Given the description of an element on the screen output the (x, y) to click on. 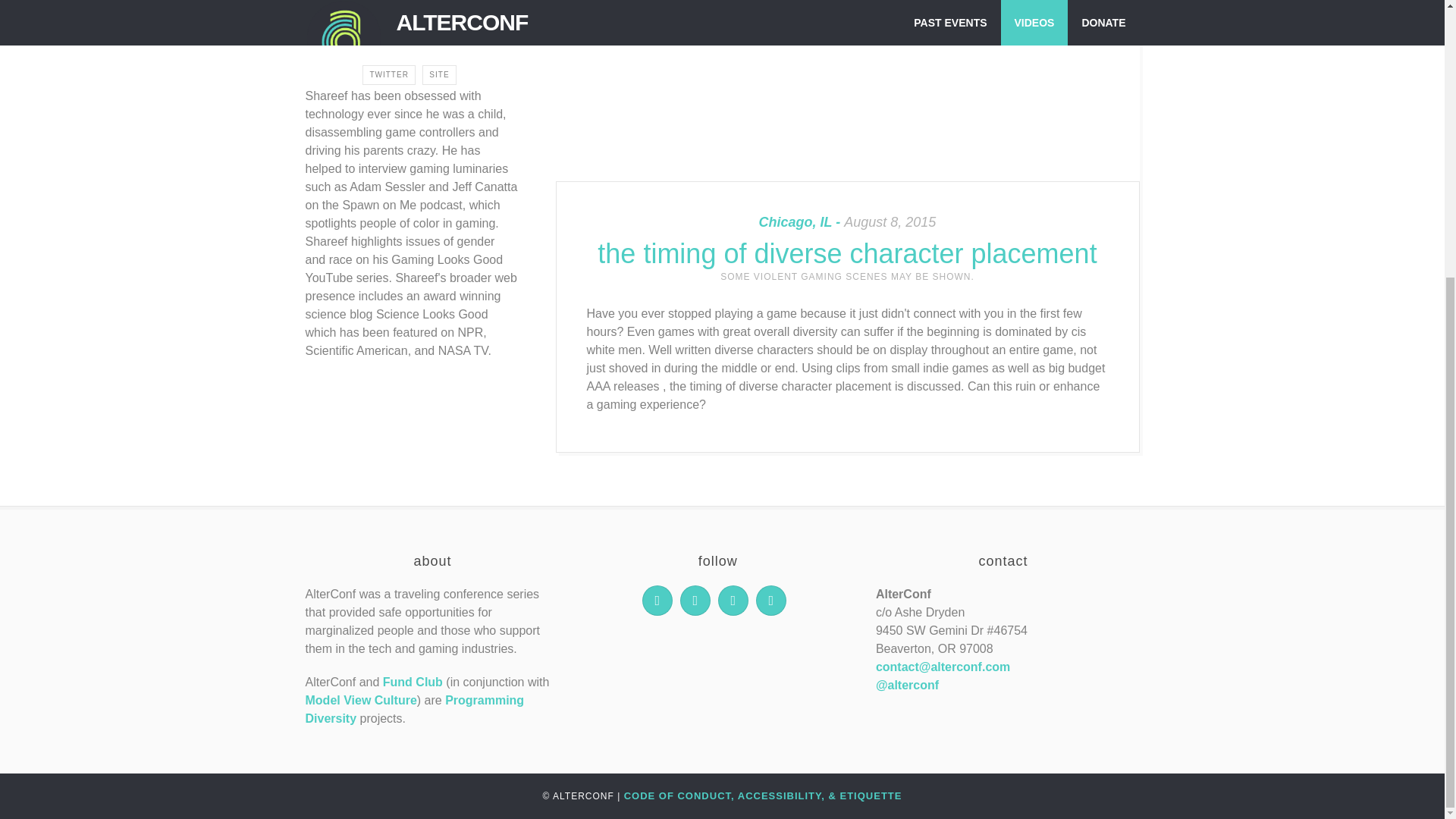
Model View Culture (360, 699)
Programming Diversity (414, 708)
twitter (657, 600)
slack (694, 600)
Chicago, IL (801, 222)
Fund Club (412, 681)
youtube (770, 600)
TWITTER (388, 75)
SITE (438, 75)
facebook (732, 600)
